Given the description of an element on the screen output the (x, y) to click on. 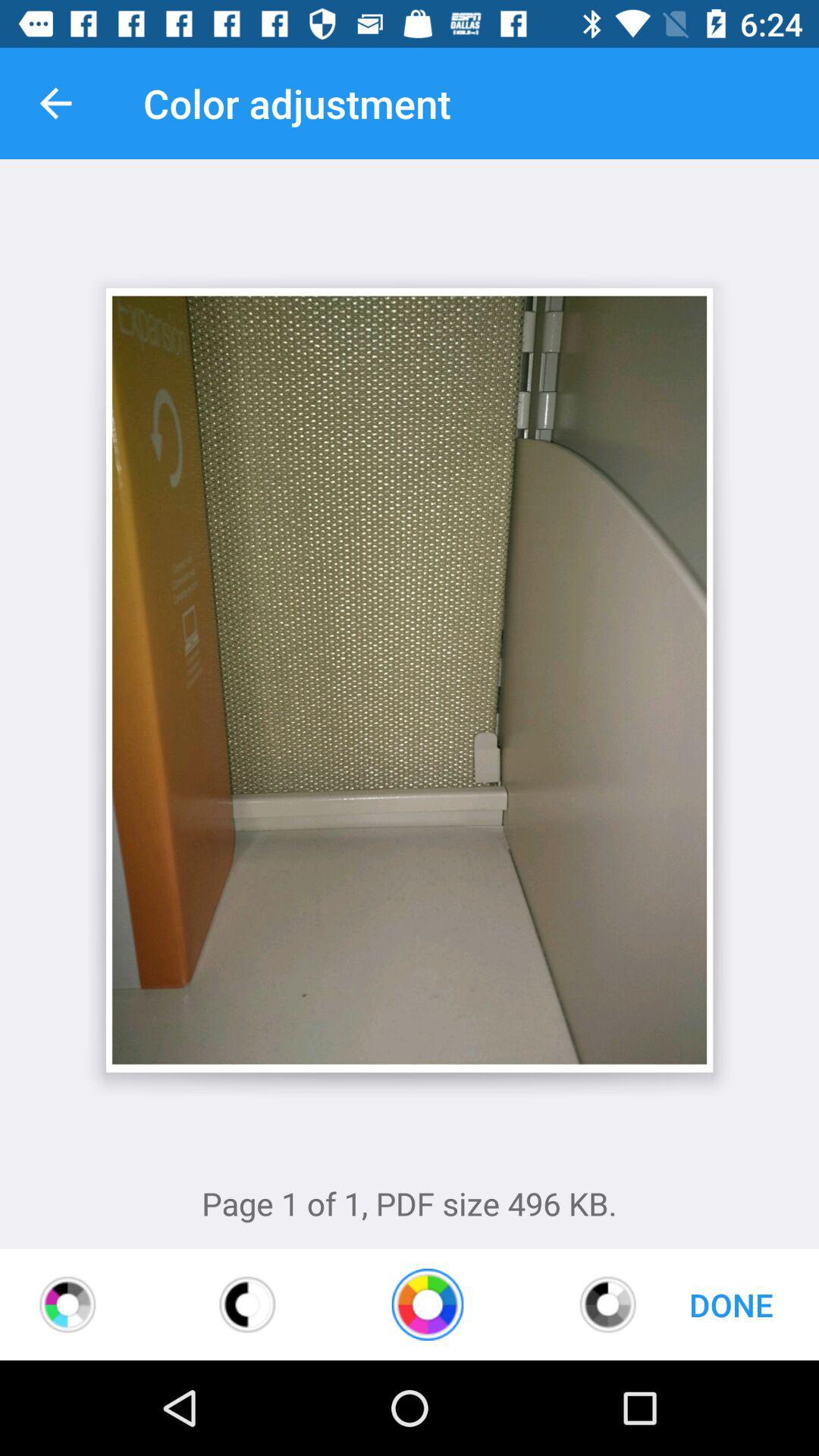
turn on the icon to the left of the done (607, 1304)
